Given the description of an element on the screen output the (x, y) to click on. 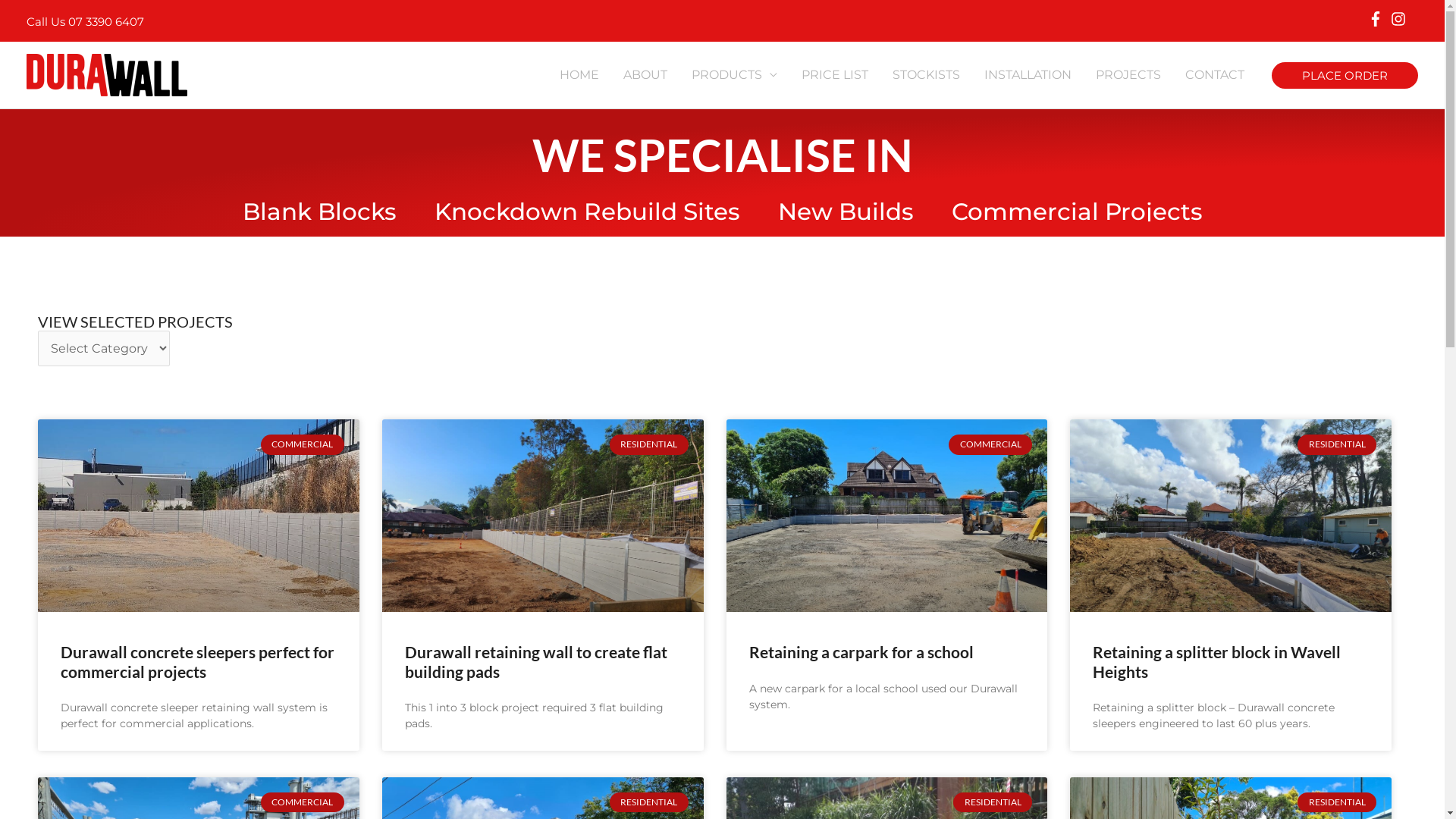
Retaining a carpark for a school Element type: text (861, 651)
ABOUT Element type: text (645, 74)
CONTACT Element type: text (1214, 74)
PRICE LIST Element type: text (834, 74)
Durawall retaining wall to create flat building pads Element type: text (535, 661)
Call Us 07 3390 6407 Element type: text (85, 21)
PRODUCTS Element type: text (734, 74)
Durawall concrete sleepers perfect for commercial projects Element type: text (197, 661)
INSTALLATION Element type: text (1027, 74)
HOME Element type: text (579, 74)
PLACE ORDER Element type: text (1344, 75)
Retaining a splitter block in Wavell Heights Element type: text (1216, 661)
STOCKISTS Element type: text (926, 74)
PROJECTS Element type: text (1128, 74)
